Given the description of an element on the screen output the (x, y) to click on. 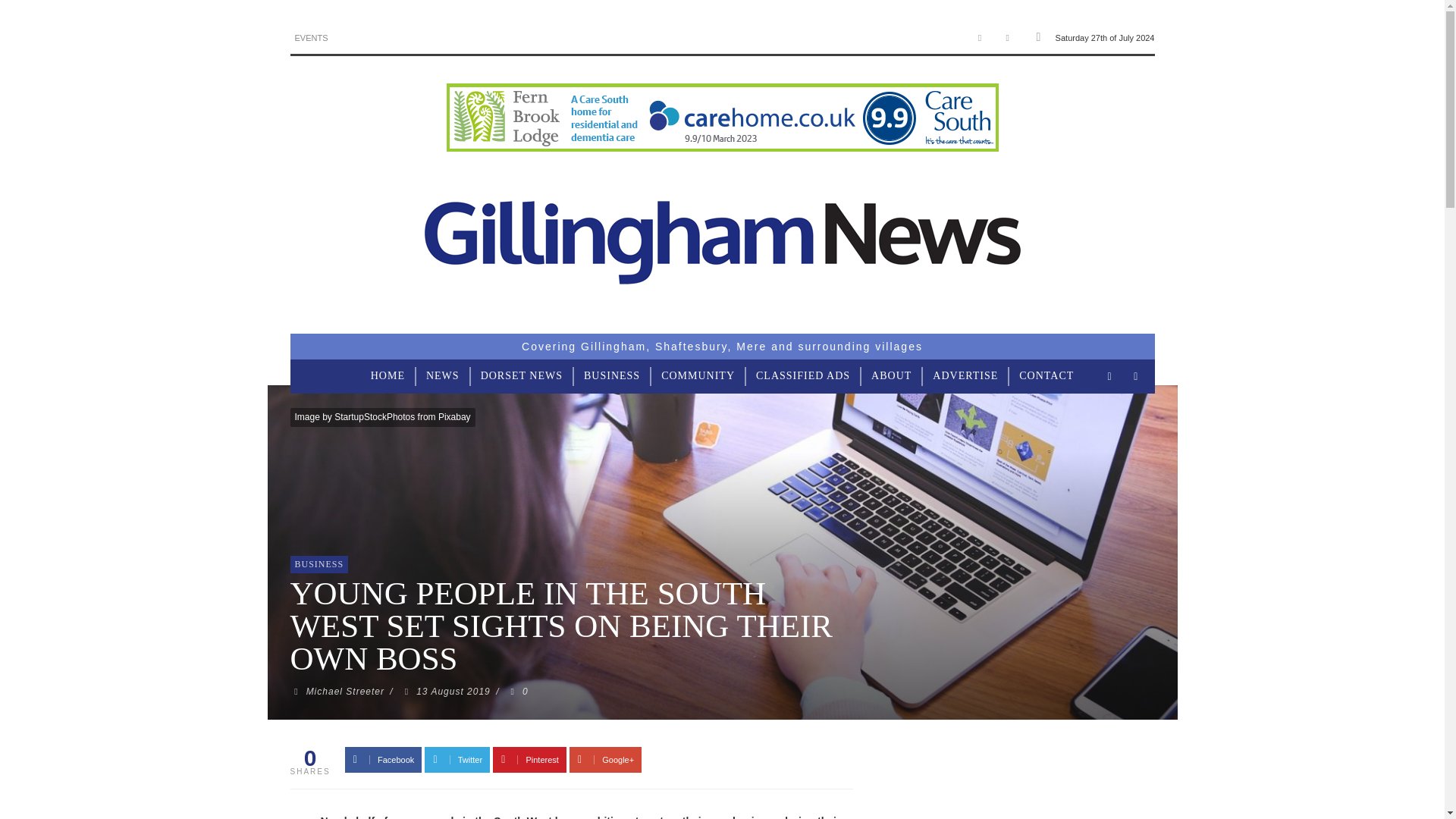
Pinterest (529, 759)
Michael Streeter (344, 691)
0 (517, 691)
COMMUNITY (698, 376)
NEWS (442, 376)
EVENTS (310, 38)
Twitter (1007, 38)
BUSINESS (612, 376)
CLASSIFIED ADS (802, 376)
Facebook (383, 759)
DORSET NEWS (521, 376)
BUSINESS (318, 563)
Facebook (980, 38)
ABOUT (890, 376)
CONTACT (1046, 376)
